Given the description of an element on the screen output the (x, y) to click on. 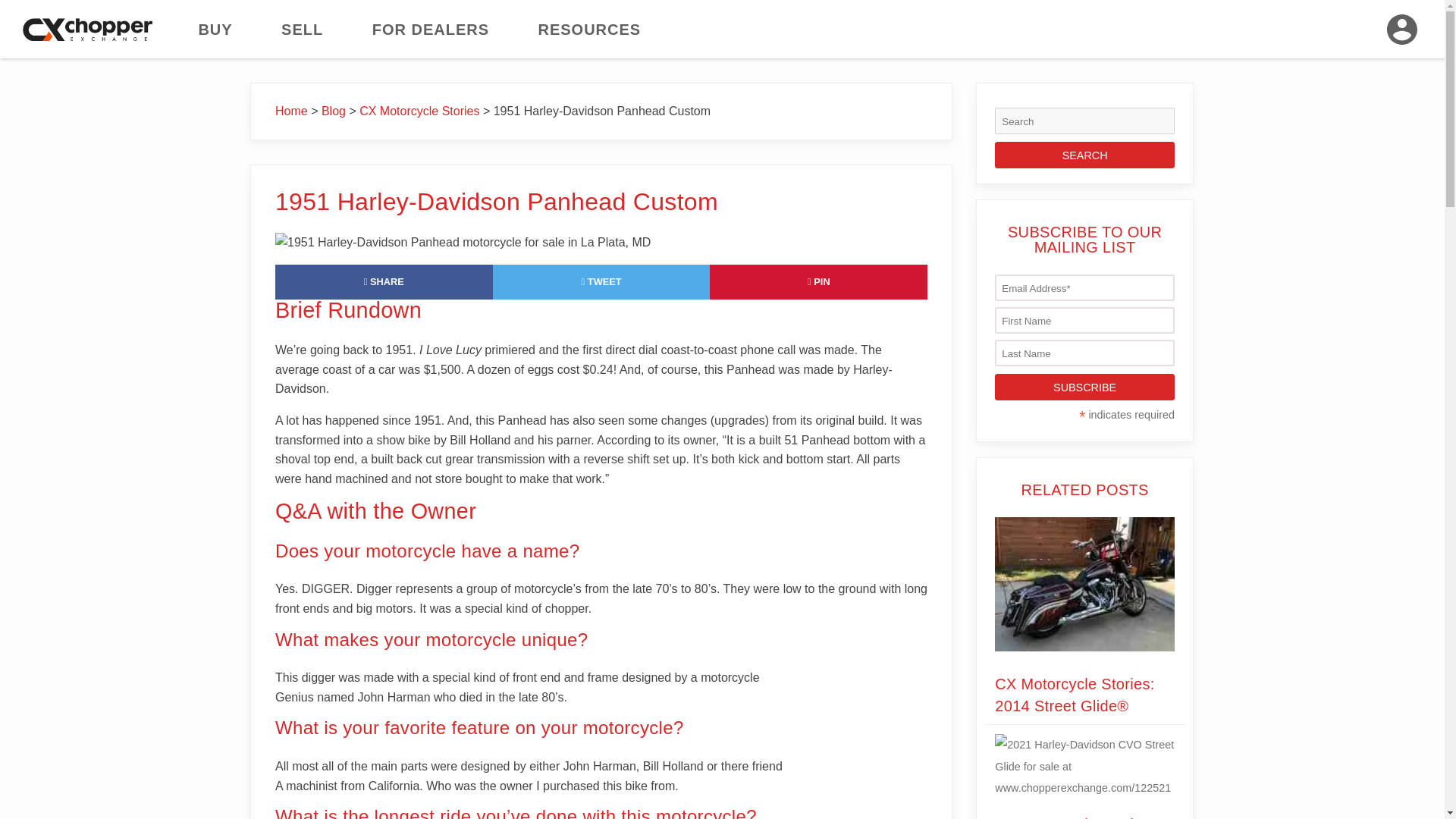
Subscribe (1084, 386)
SEARCH (1084, 154)
CX Motorcycle Stories (419, 110)
Blog (333, 110)
SELL (302, 29)
TWEET (600, 281)
BUY (214, 29)
RESOURCES (588, 29)
Home (291, 110)
SHARE (384, 281)
